Given the description of an element on the screen output the (x, y) to click on. 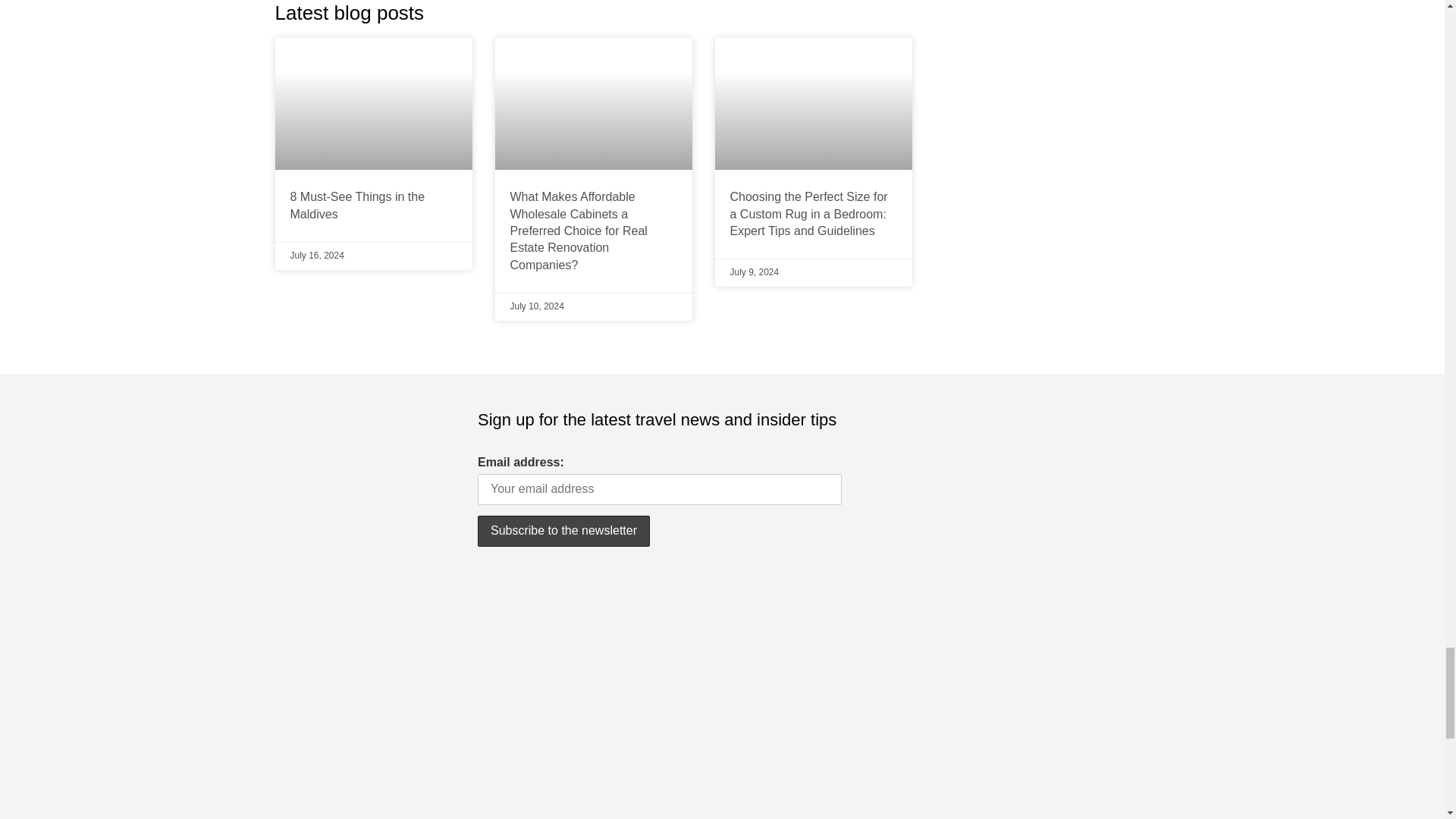
Subscribe to the newsletter (563, 531)
